Given the description of an element on the screen output the (x, y) to click on. 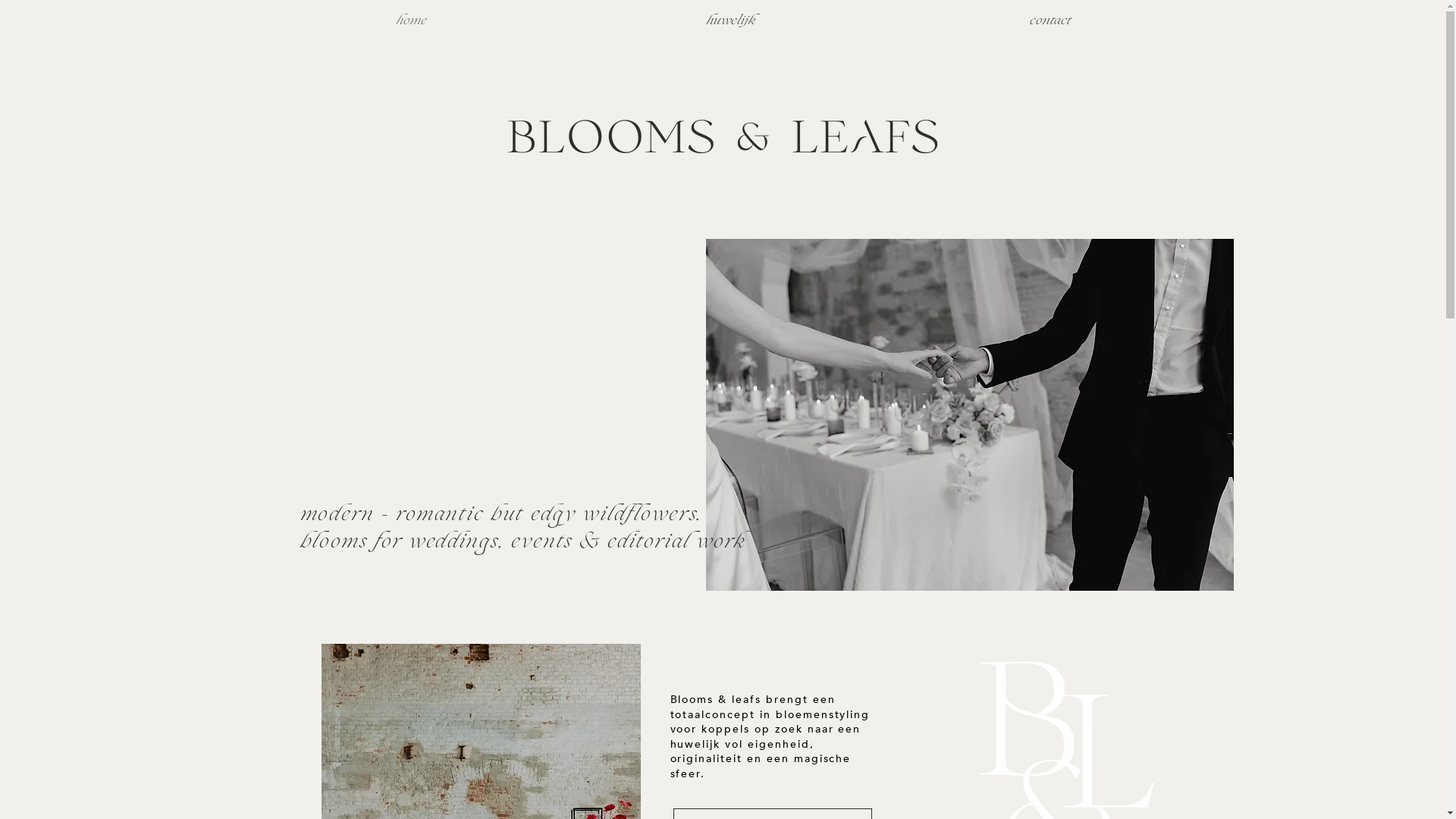
contact Element type: text (1049, 20)
huwelijk Element type: text (731, 20)
home Element type: text (411, 20)
